Given the description of an element on the screen output the (x, y) to click on. 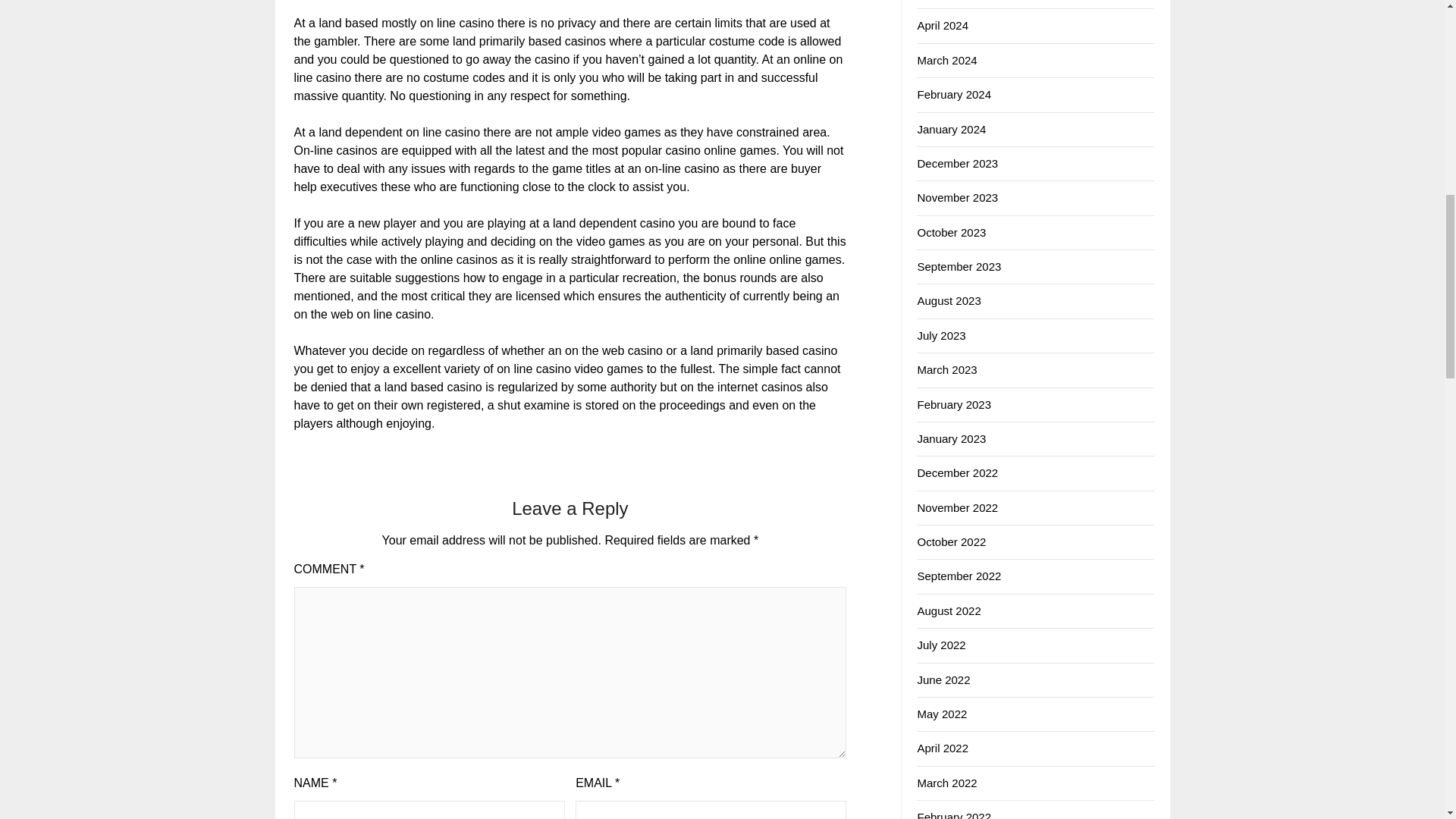
December 2023 (957, 163)
January 2024 (951, 128)
October 2023 (951, 232)
March 2024 (946, 60)
September 2023 (959, 266)
February 2024 (954, 93)
April 2024 (942, 24)
November 2023 (957, 196)
